Given the description of an element on the screen output the (x, y) to click on. 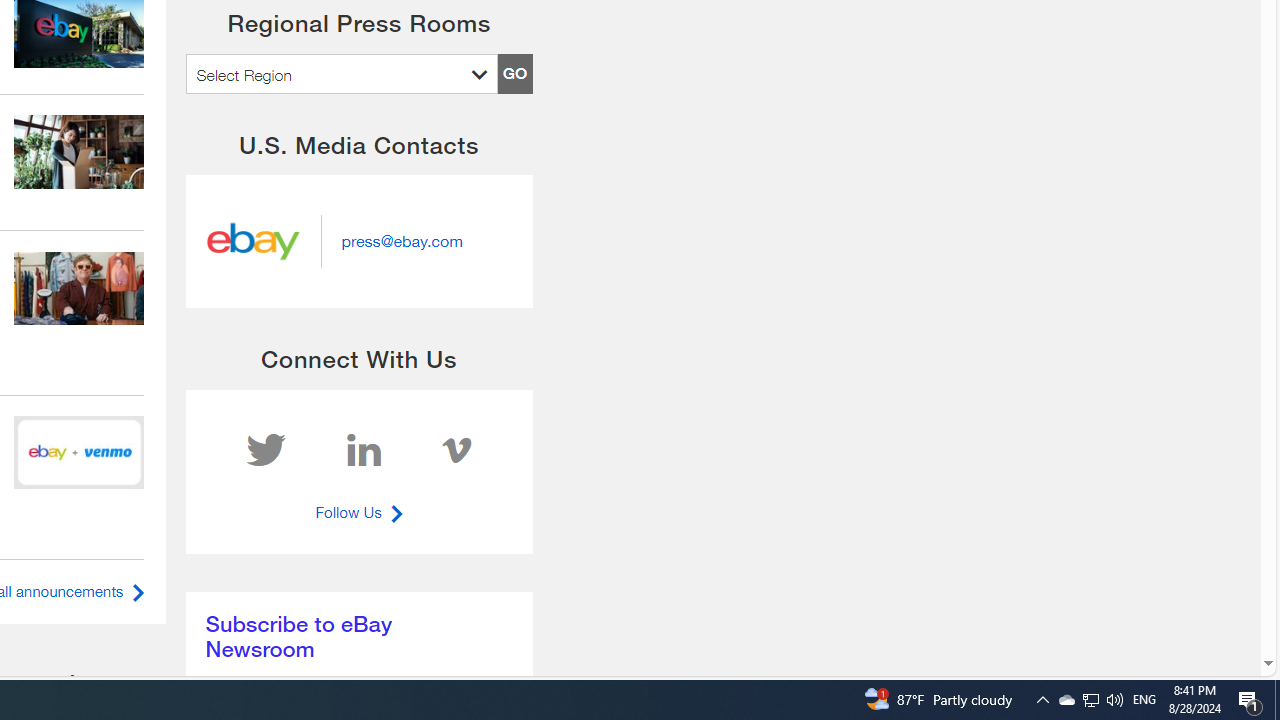
240612 eBay inc hero (79, 452)
Send email to press@ebay.com (401, 240)
AutomationID: press-dropdown (341, 73)
1365520856 (79, 150)
GO (514, 73)
969302575 (79, 288)
